Given the description of an element on the screen output the (x, y) to click on. 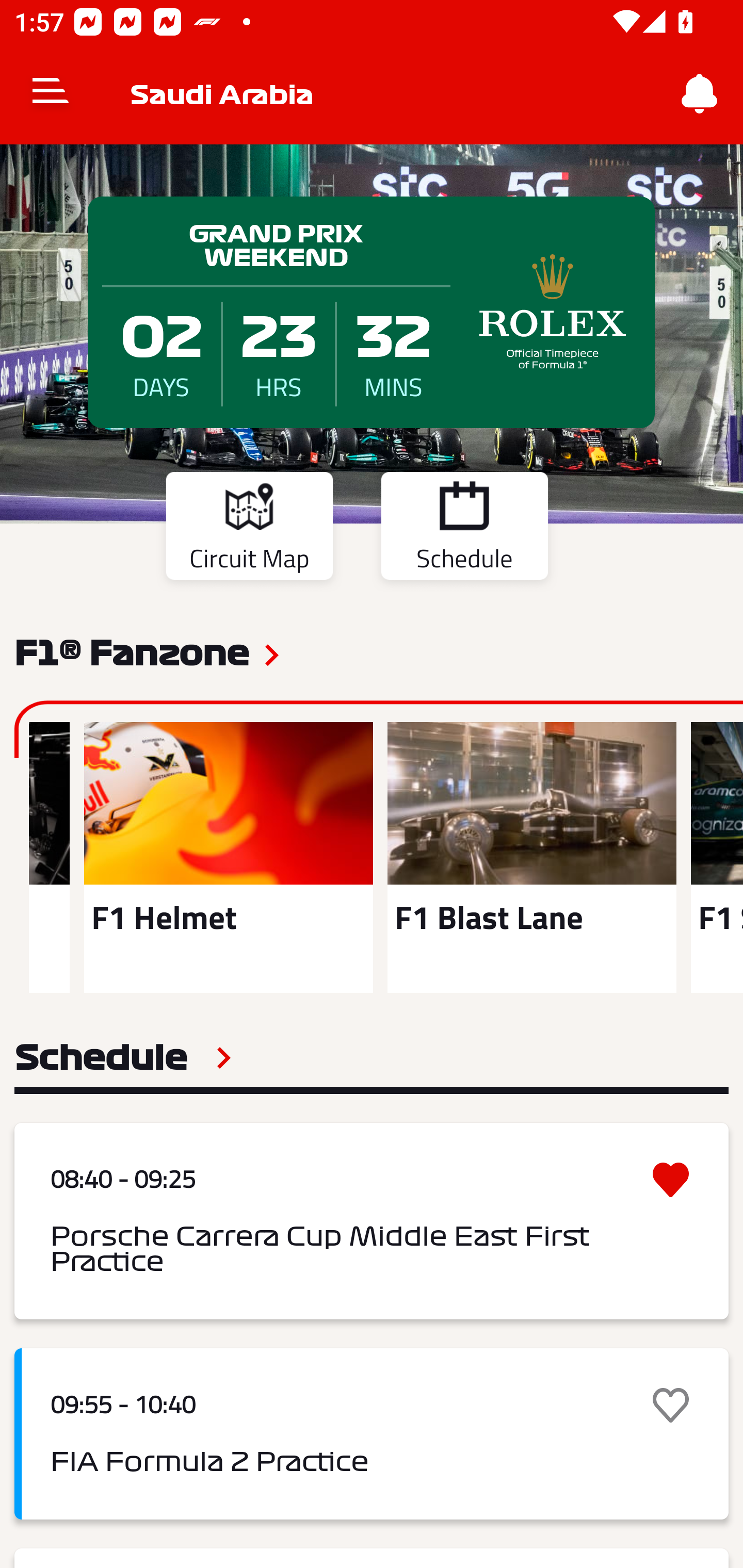
Navigate up (50, 93)
Notifications (699, 93)
Circuit Map (249, 528)
Schedule (464, 528)
F1® Fanzone (131, 651)
F1 Helmet (227, 857)
F1 Blast Lane (531, 857)
Schedule (122, 1057)
09:55 - 10:40 FIA Formula 2 Practice (371, 1433)
